Given the description of an element on the screen output the (x, y) to click on. 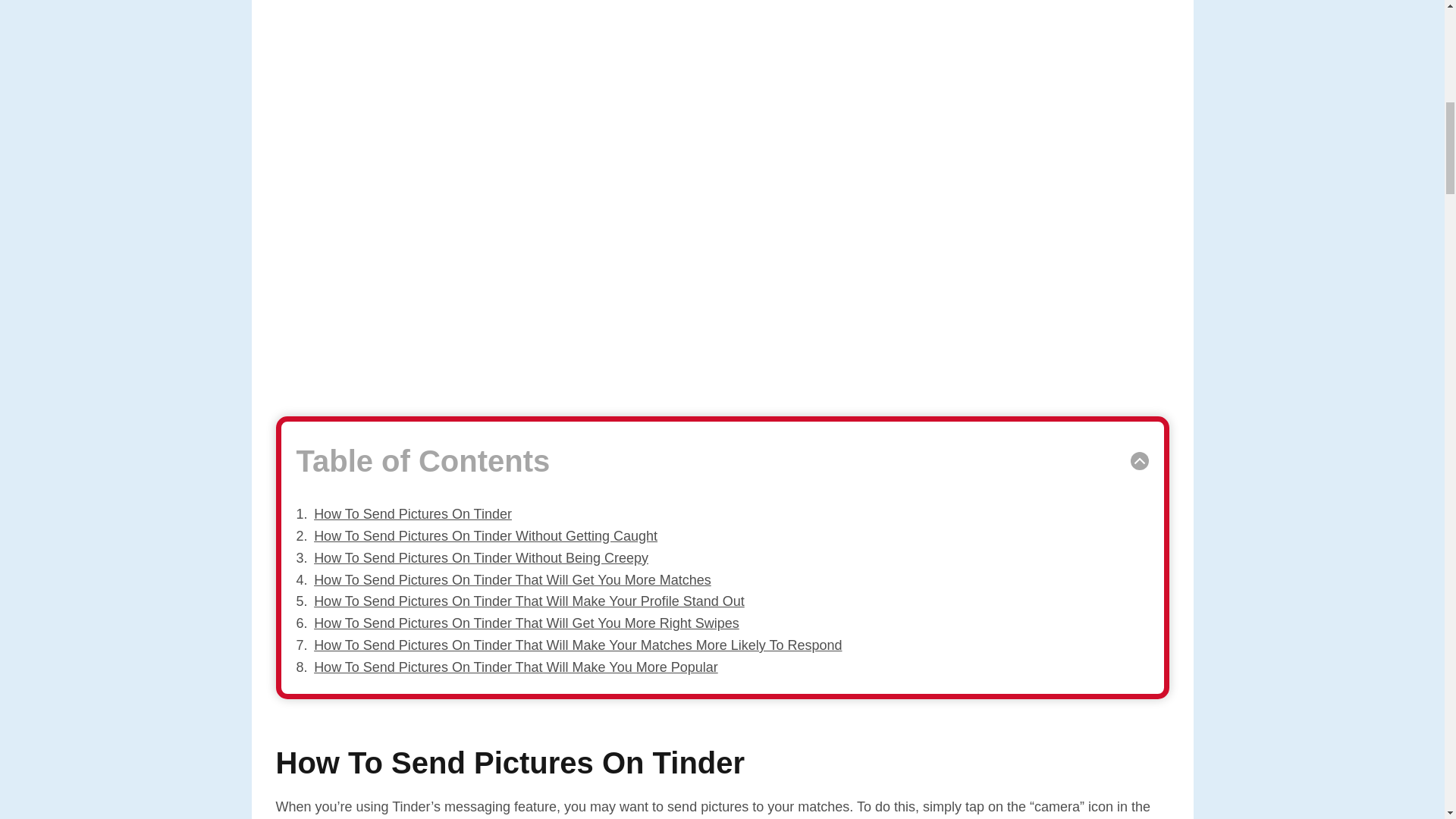
How To Send Pictures On Tinder Without Being Creepy (480, 557)
How To Send Pictures On Tinder Without Getting Caught (486, 535)
How To Send Pictures On Tinder (413, 513)
Table of Contents (721, 460)
